Given the description of an element on the screen output the (x, y) to click on. 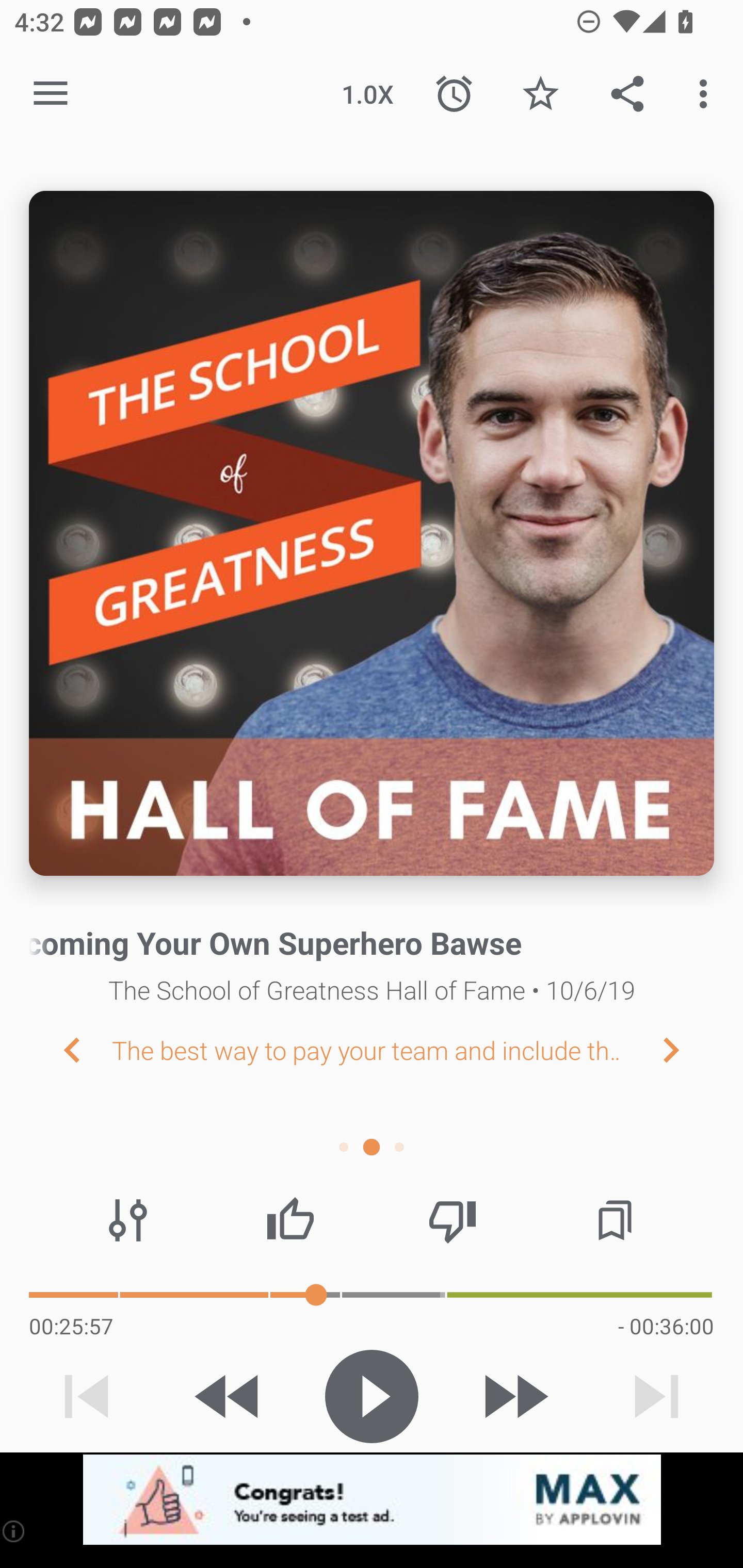
Open navigation sidebar (50, 93)
1.0X (366, 93)
Sleep Timer (453, 93)
Favorite (540, 93)
Share (626, 93)
More options (706, 93)
Episode description (371, 533)
Previous Chapter (56, 1049)
Next Chapter (686, 1049)
Audio effects (127, 1220)
Thumbs up (290, 1220)
Thumbs down (452, 1220)
Chapters / Bookmarks (614, 1220)
- 00:36:00 (666, 1325)
Previous track (86, 1395)
Skip 15s backward (228, 1395)
Play / Pause (371, 1395)
Skip 30s forward (513, 1395)
Next track (656, 1395)
app-monetization (371, 1500)
(i) (14, 1531)
